Given the description of an element on the screen output the (x, y) to click on. 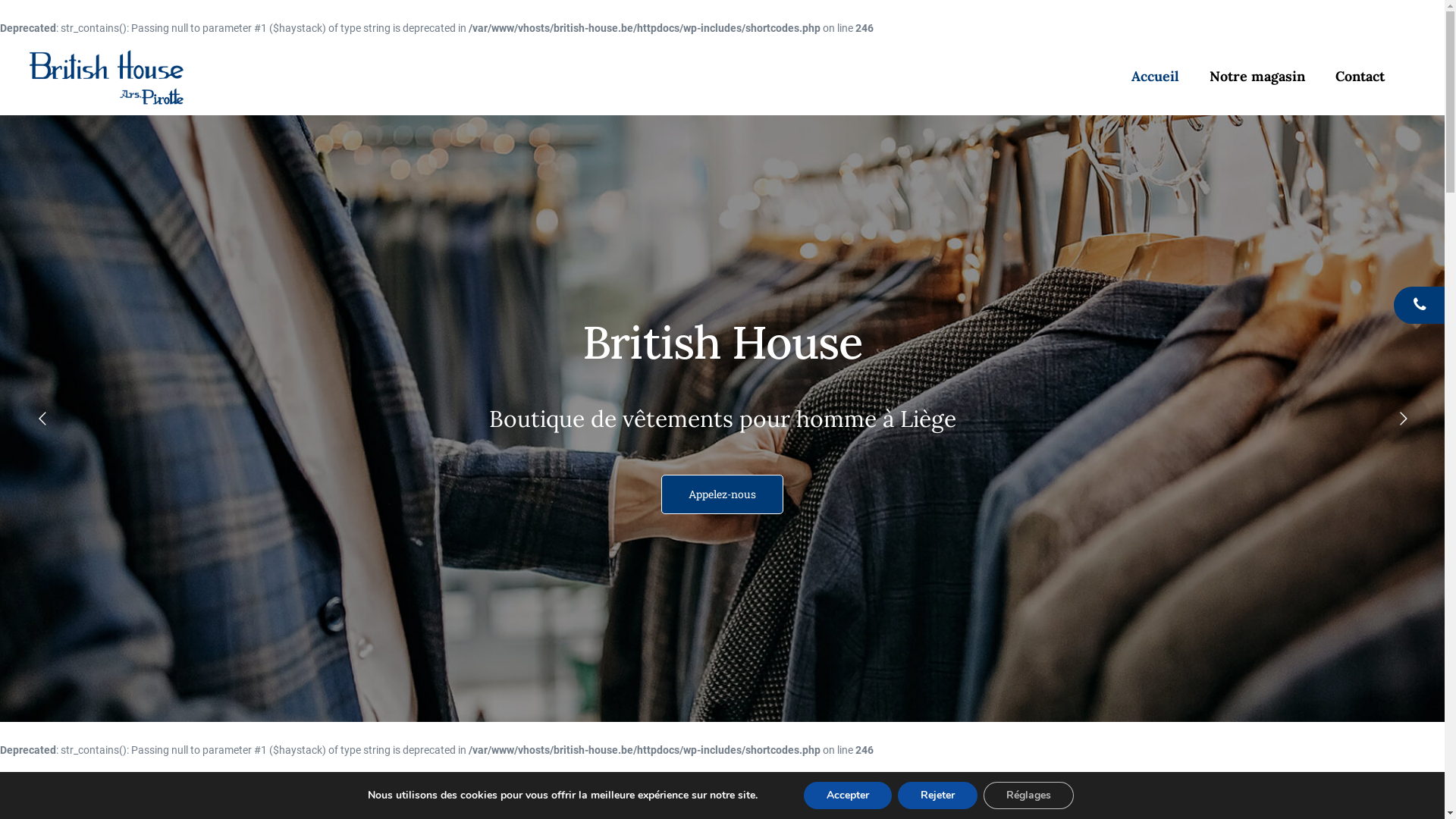
Accueil Element type: text (1155, 76)
Rejeter Element type: text (937, 795)
Contact Element type: text (1359, 76)
Accepter Element type: text (847, 795)
04/277.00.65 Element type: text (1418, 304)
Notre magasin Element type: text (1257, 76)
Appelez-nous Element type: text (722, 494)
BRITISH HOUSE Element type: hover (106, 76)
